Given the description of an element on the screen output the (x, y) to click on. 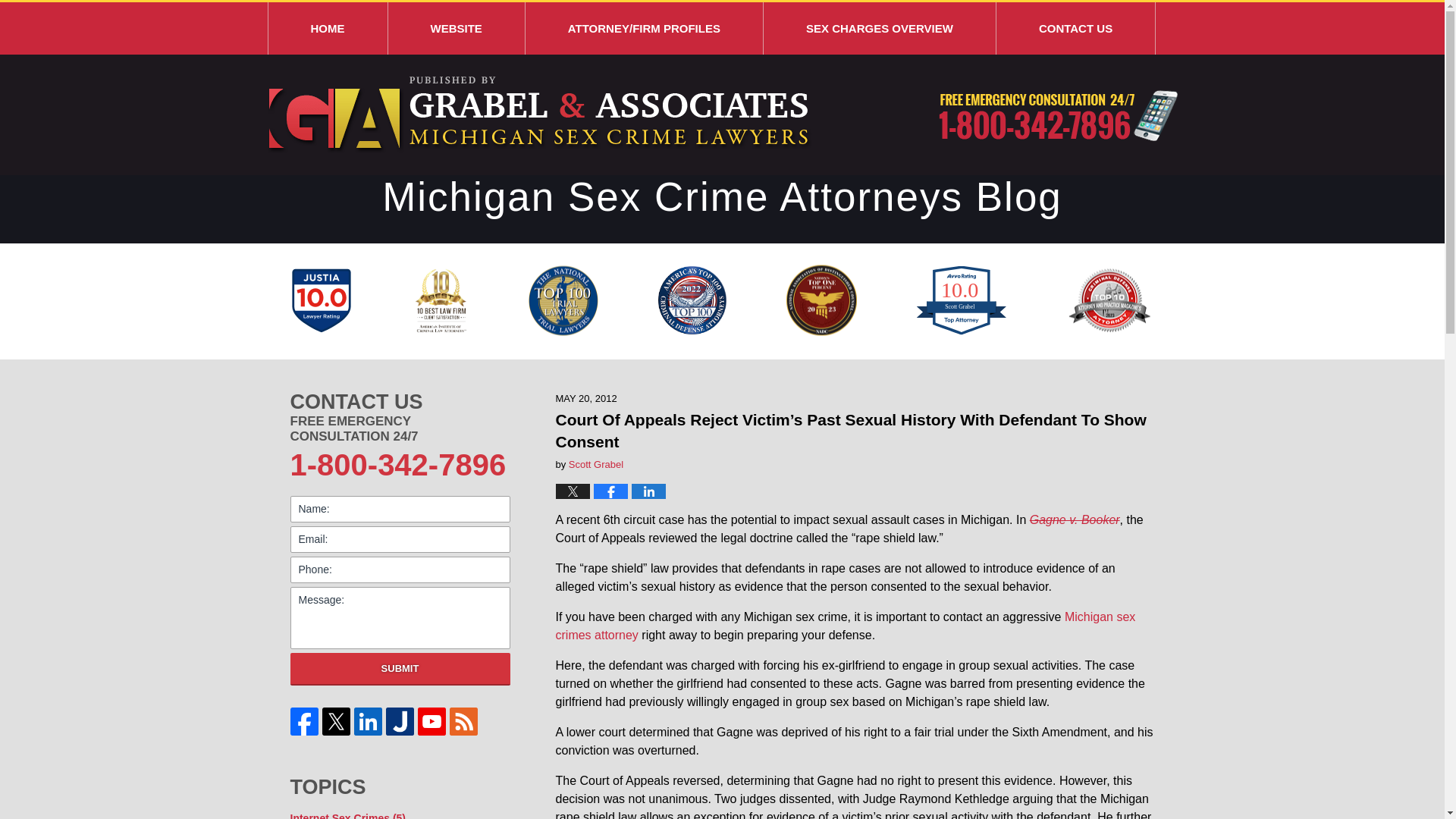
Facebook (304, 721)
Feed (464, 721)
SEX CHARGES OVERVIEW (878, 28)
WEBSITE (456, 28)
Michigan sex crimes attorney (844, 625)
CONTACT US (1074, 28)
HOME (327, 28)
Scott Grabel (596, 464)
SUBMIT (399, 668)
Twitter (336, 721)
Gagne v. Booker (1074, 519)
CONTACT US (399, 401)
Michigan Sex Crime Attorneys Blog (538, 114)
LinkedIn (368, 721)
Please enter a valid phone number. (399, 569)
